Given the description of an element on the screen output the (x, y) to click on. 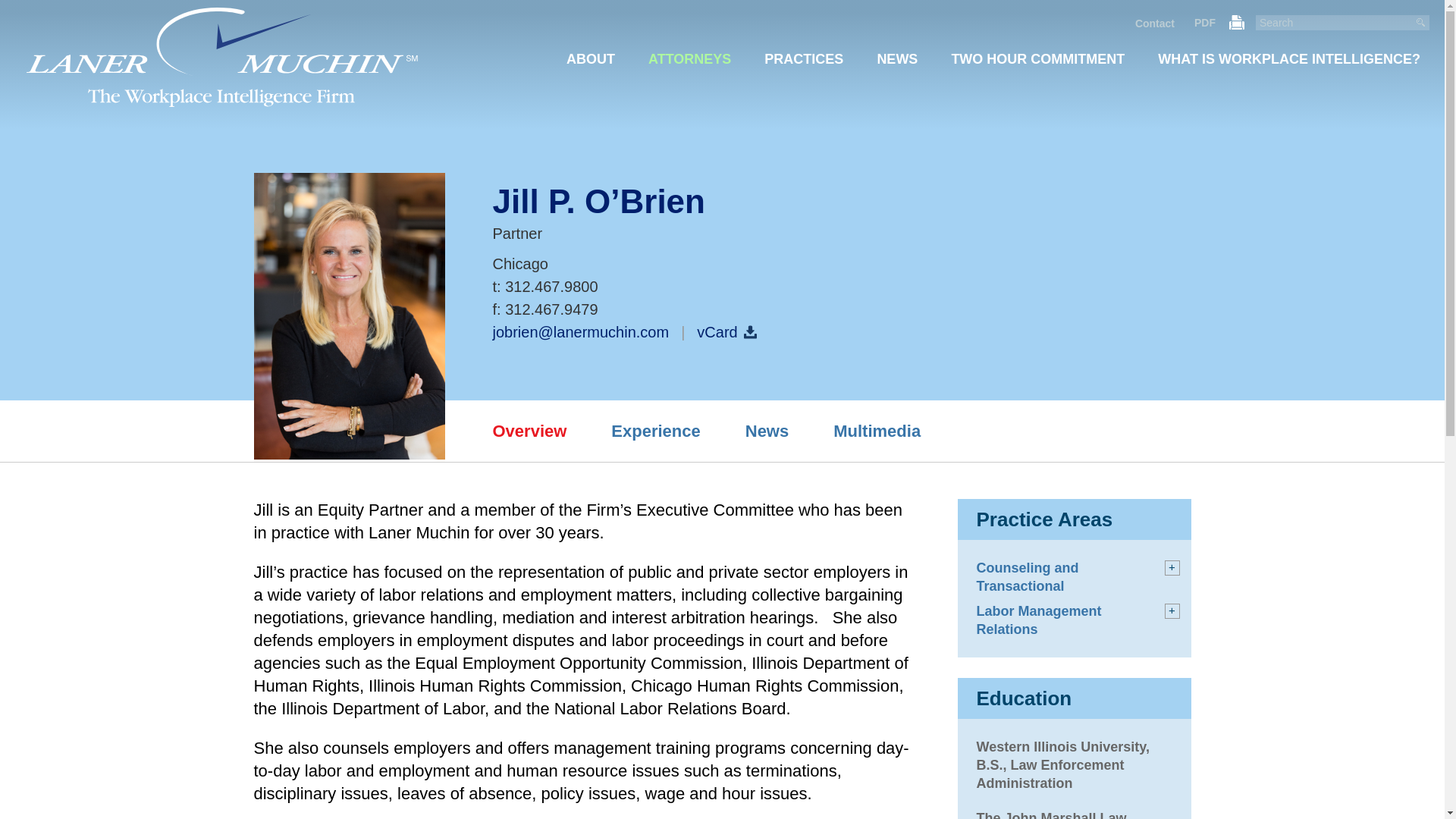
vCard (726, 331)
Overview (530, 435)
312.467.9800 (550, 286)
Experience (655, 435)
Chicago (520, 263)
PDF (1204, 22)
Multimedia (876, 435)
